Given the description of an element on the screen output the (x, y) to click on. 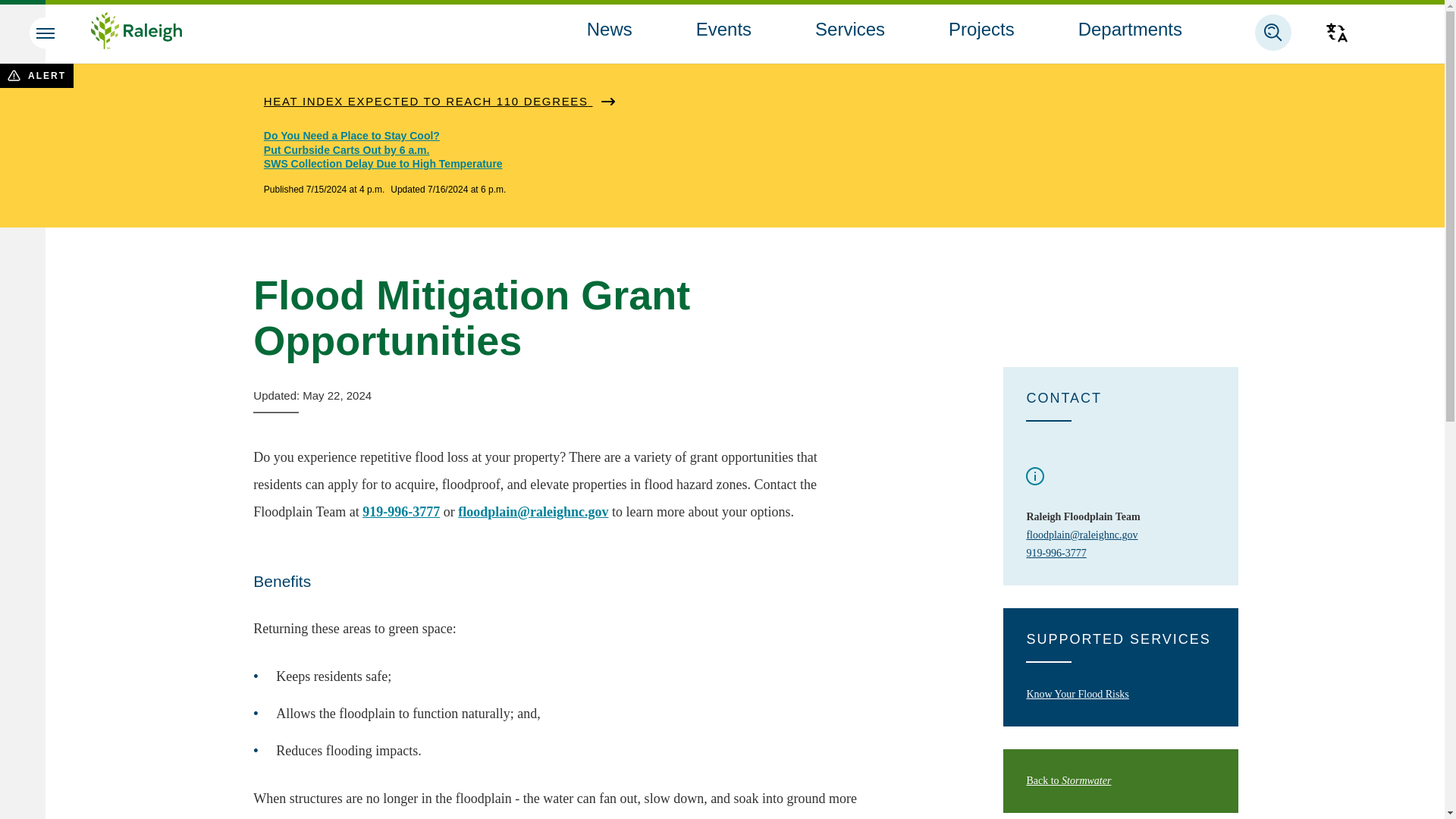
Events (723, 29)
Home (136, 32)
Projects (981, 29)
Menu (45, 33)
Stormwater (1068, 780)
Departments (1130, 29)
Services (850, 29)
News (608, 29)
